Given the description of an element on the screen output the (x, y) to click on. 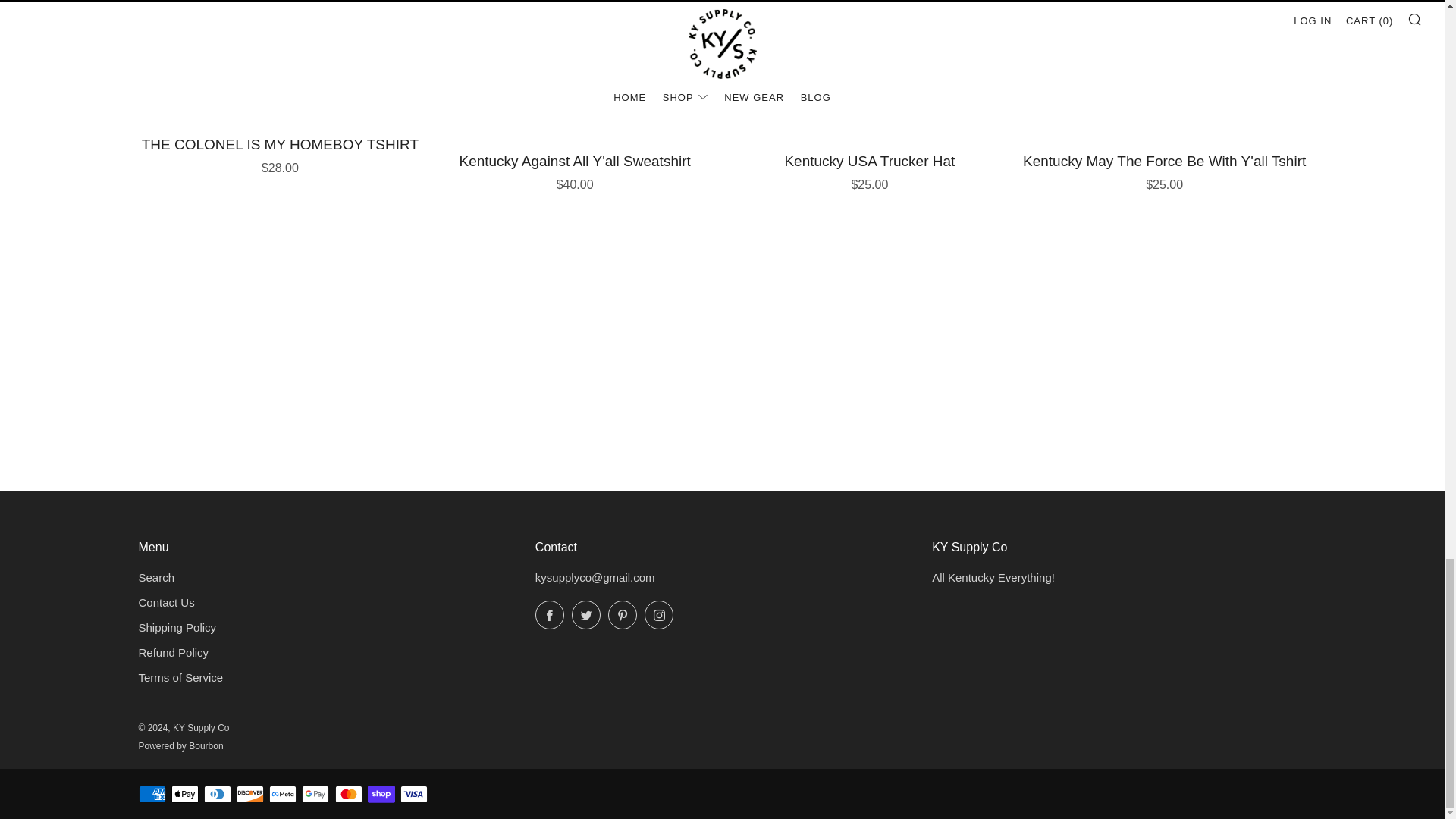
THE COLONEL IS MY HOMEBOY TSHIRT (280, 152)
Kentucky Against All Y'all Sweatshirt (574, 169)
Kentucky USA Trucker Hat (869, 169)
Kentucky May The Force Be With Y'all Tshirt (1164, 169)
